Given the description of an element on the screen output the (x, y) to click on. 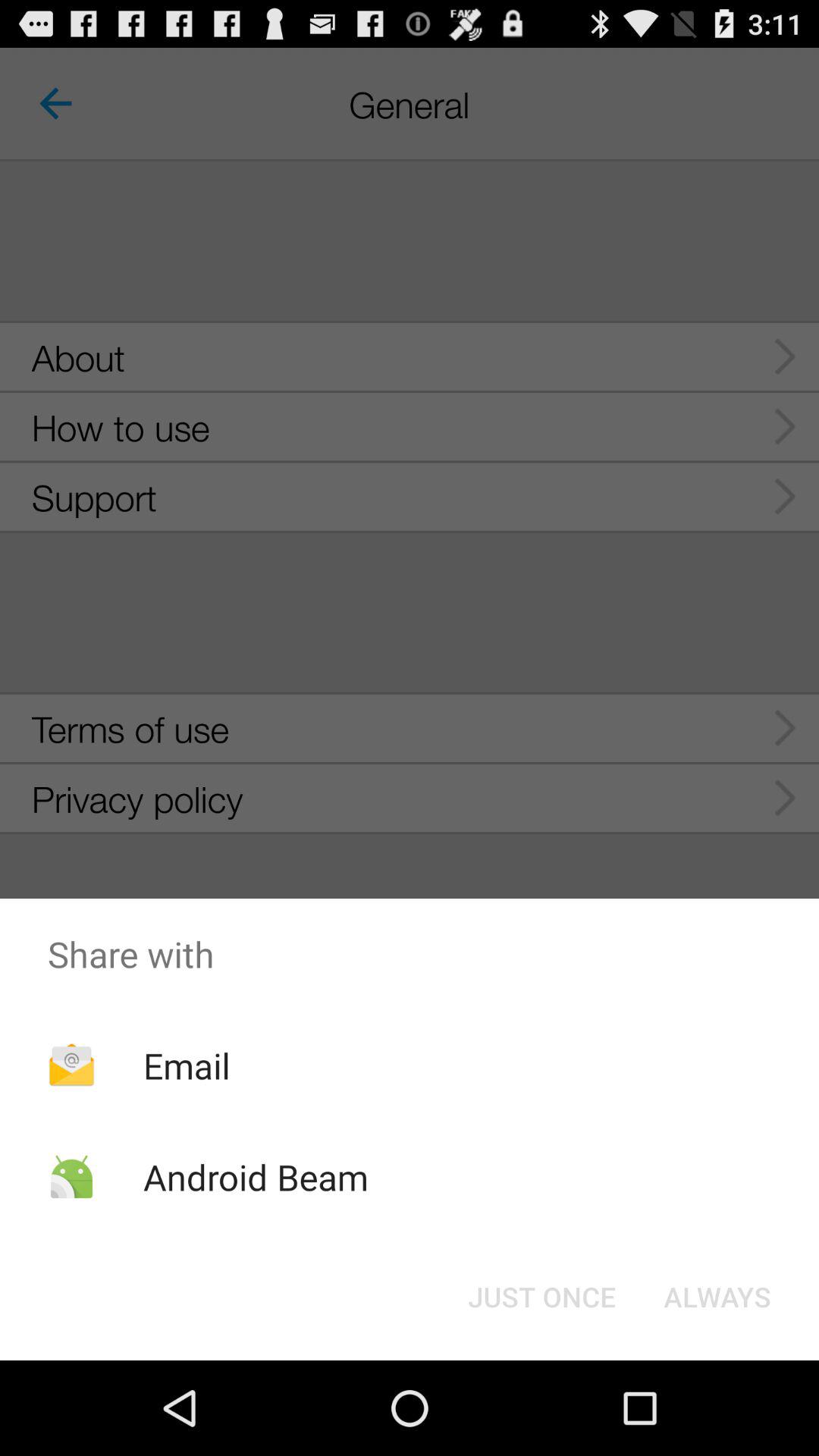
tap the icon to the left of the always item (541, 1296)
